Given the description of an element on the screen output the (x, y) to click on. 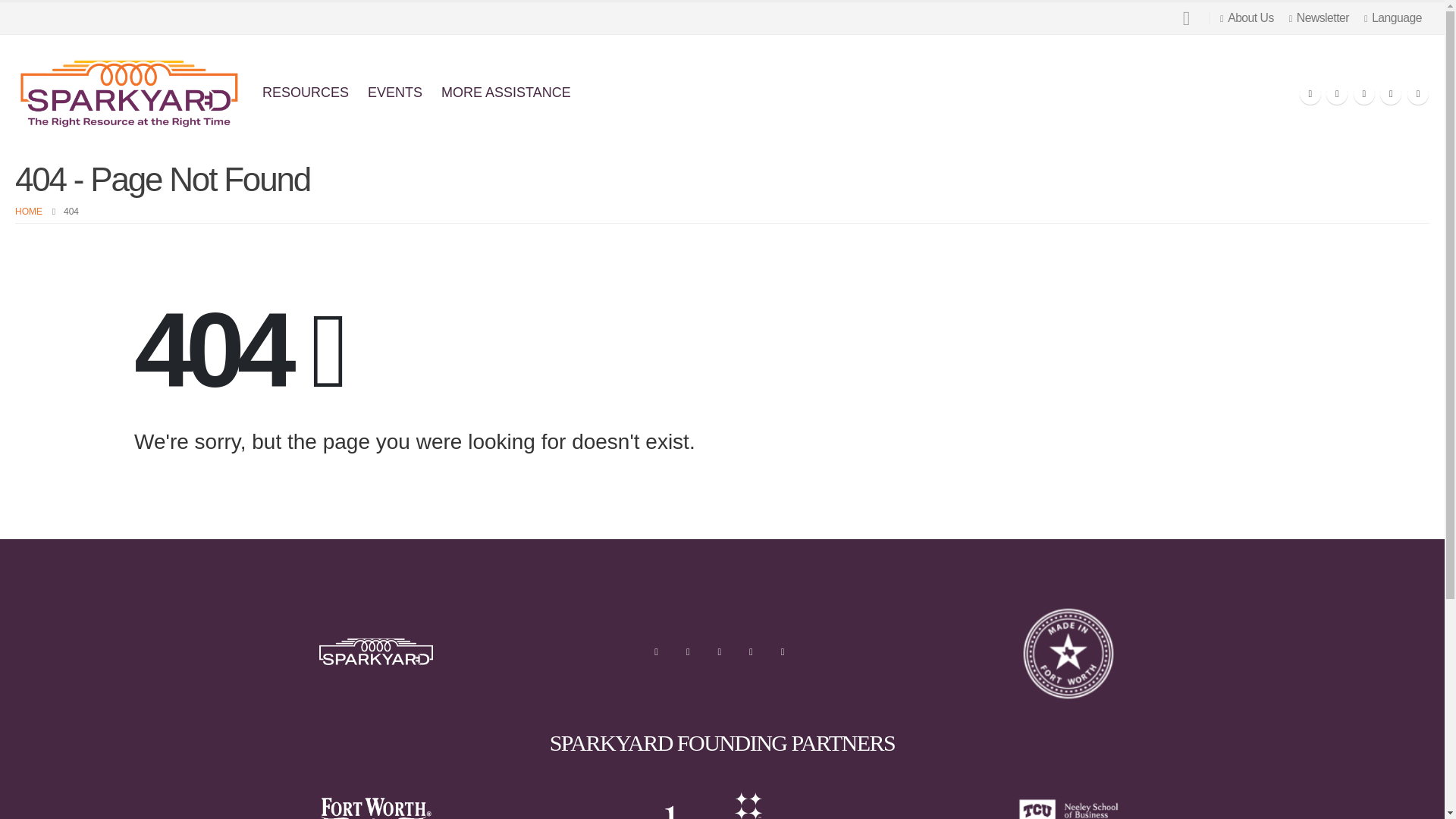
EVENTS (394, 92)
Facebook (655, 651)
MORE ASSISTANCE (505, 92)
Instagram (1390, 93)
LinkedIn (782, 651)
Sparkyard - The Right Resource at the Right Time (128, 92)
RESOURCES (305, 92)
Instagram (750, 651)
Newsletter (1318, 18)
LinkedIn (1417, 93)
